Given the description of an element on the screen output the (x, y) to click on. 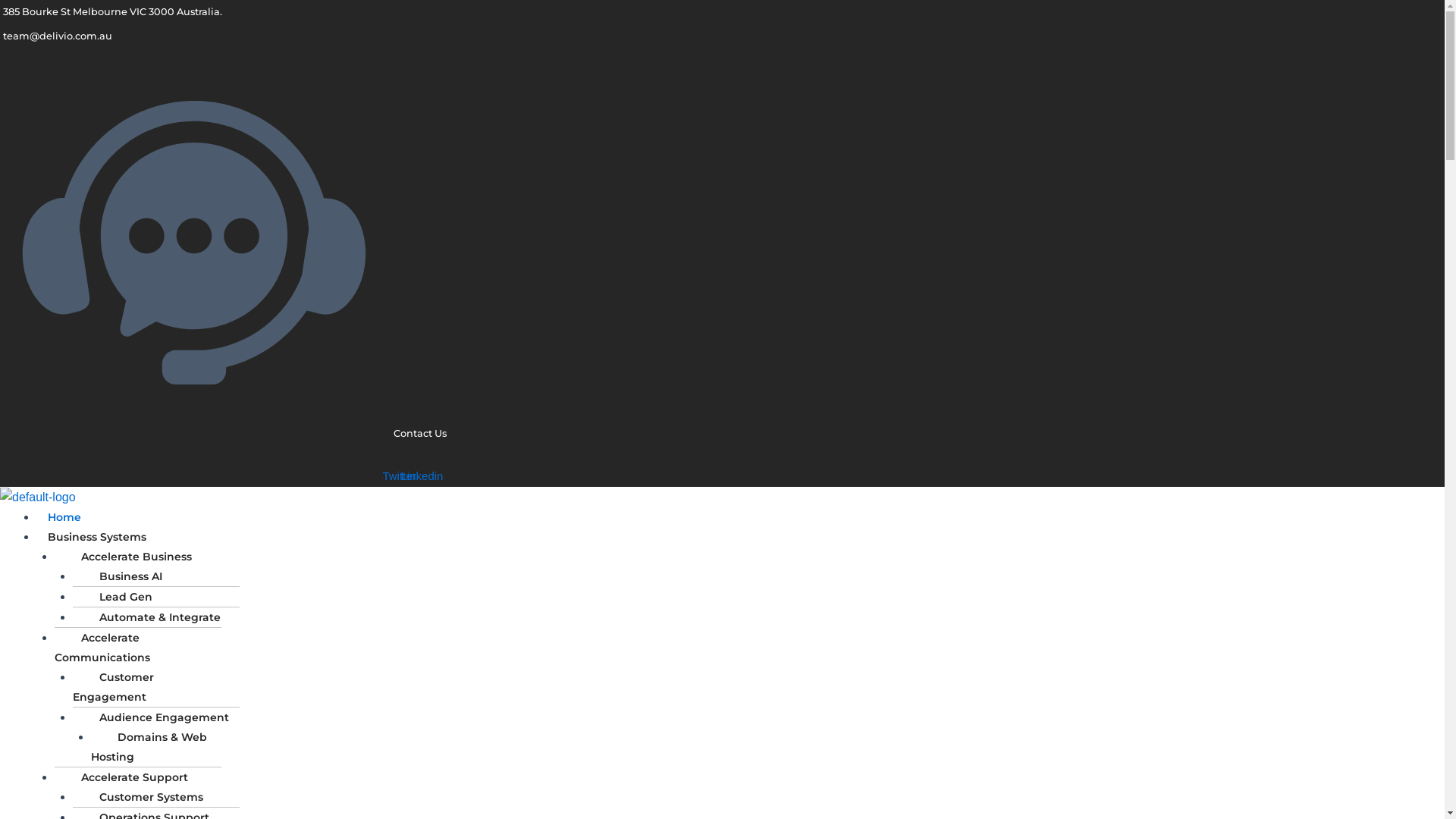
Accelerate Support Element type: text (126, 777)
Accelerate Communications Element type: text (107, 647)
Twitter Element type: text (399, 475)
Automate & Integrate Element type: text (152, 617)
Customer Systems Element type: text (143, 796)
Business Systems Element type: text (96, 536)
Audience Engagement Element type: text (156, 717)
Business AI Element type: text (122, 576)
Customer Engagement Element type: text (114, 686)
Linkedin Element type: text (422, 475)
Home Element type: text (64, 516)
Contact Us Element type: text (223, 433)
Domains & Web Hosting Element type: text (149, 746)
Lead Gen Element type: text (117, 596)
Accelerate Business Element type: text (128, 556)
